Given the description of an element on the screen output the (x, y) to click on. 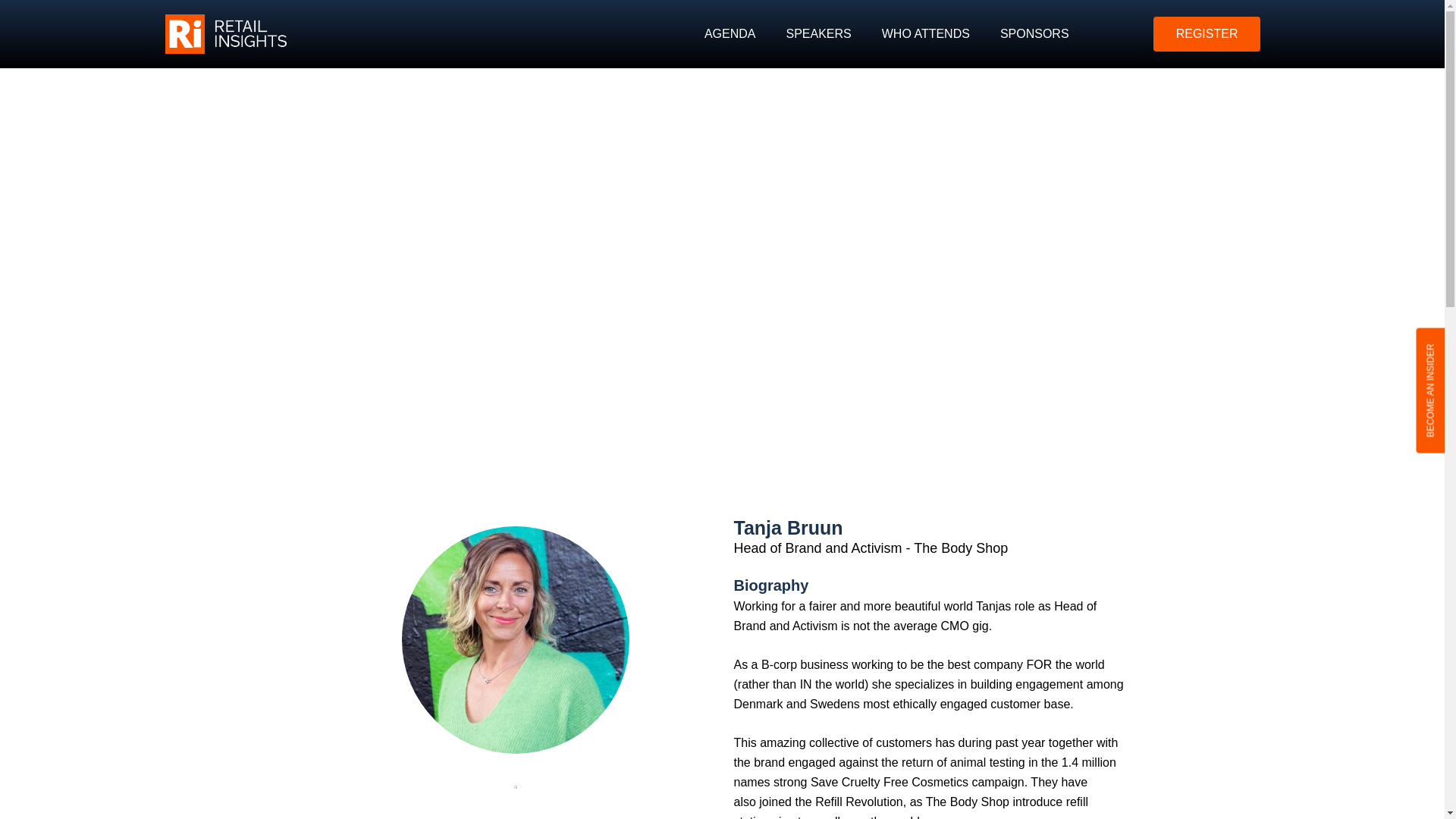
SPONSORS (1034, 33)
Home (678, 264)
REGISTER (1206, 33)
SPEAKERS (818, 33)
WHO ATTENDS (925, 33)
AGENDA (729, 33)
